Given the description of an element on the screen output the (x, y) to click on. 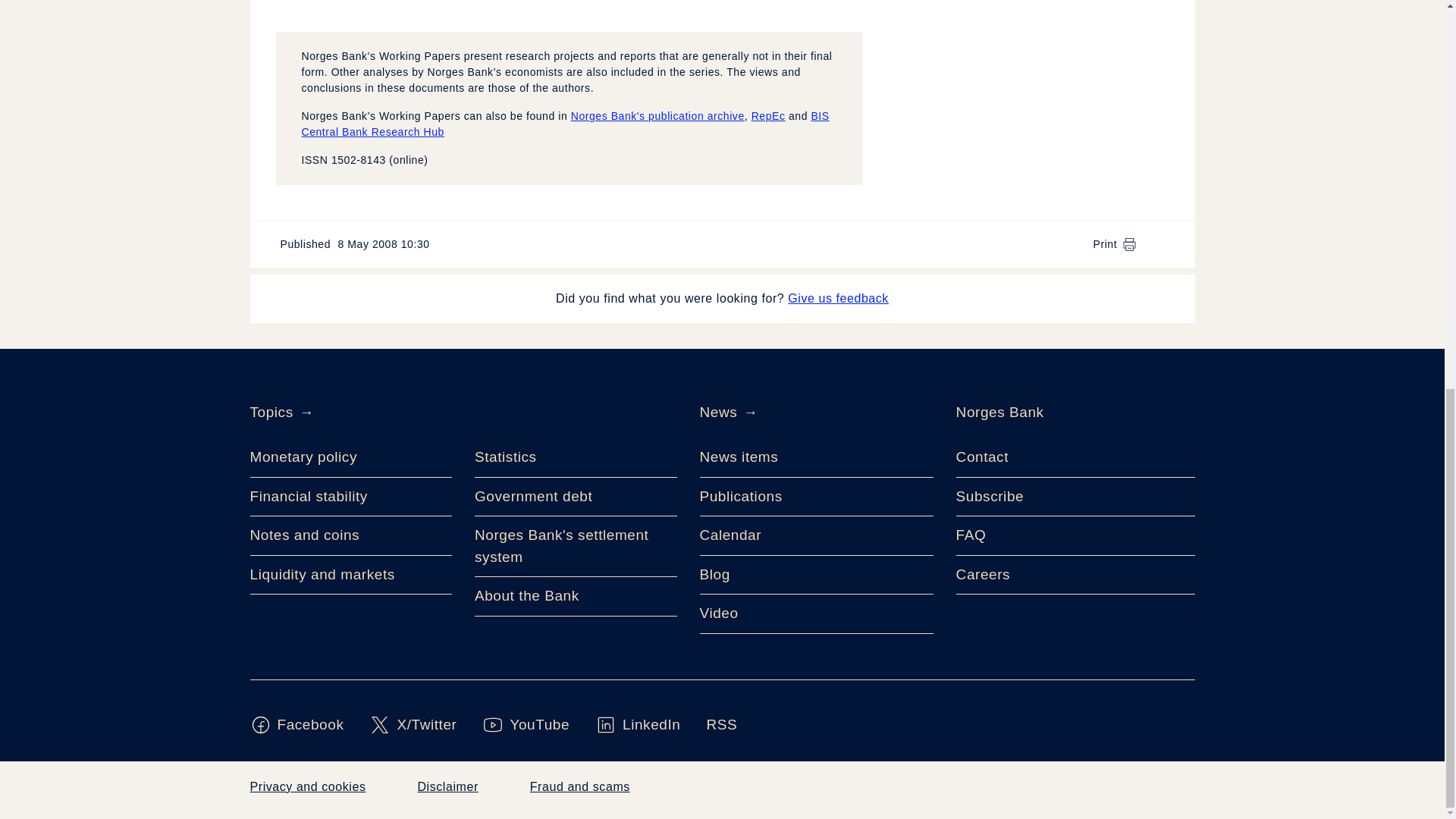
News (717, 412)
Financial stability (351, 496)
Video (815, 613)
Liquidity and markets (351, 574)
Publications (815, 496)
BIS Central Bank Research Hub (565, 123)
Notes and coins (351, 536)
Contact (1075, 457)
Give us feedback (837, 298)
Monetary policy (351, 457)
Statistics (575, 457)
Government debt (575, 496)
News items (815, 457)
RepEc (768, 115)
Blog (815, 574)
